Given the description of an element on the screen output the (x, y) to click on. 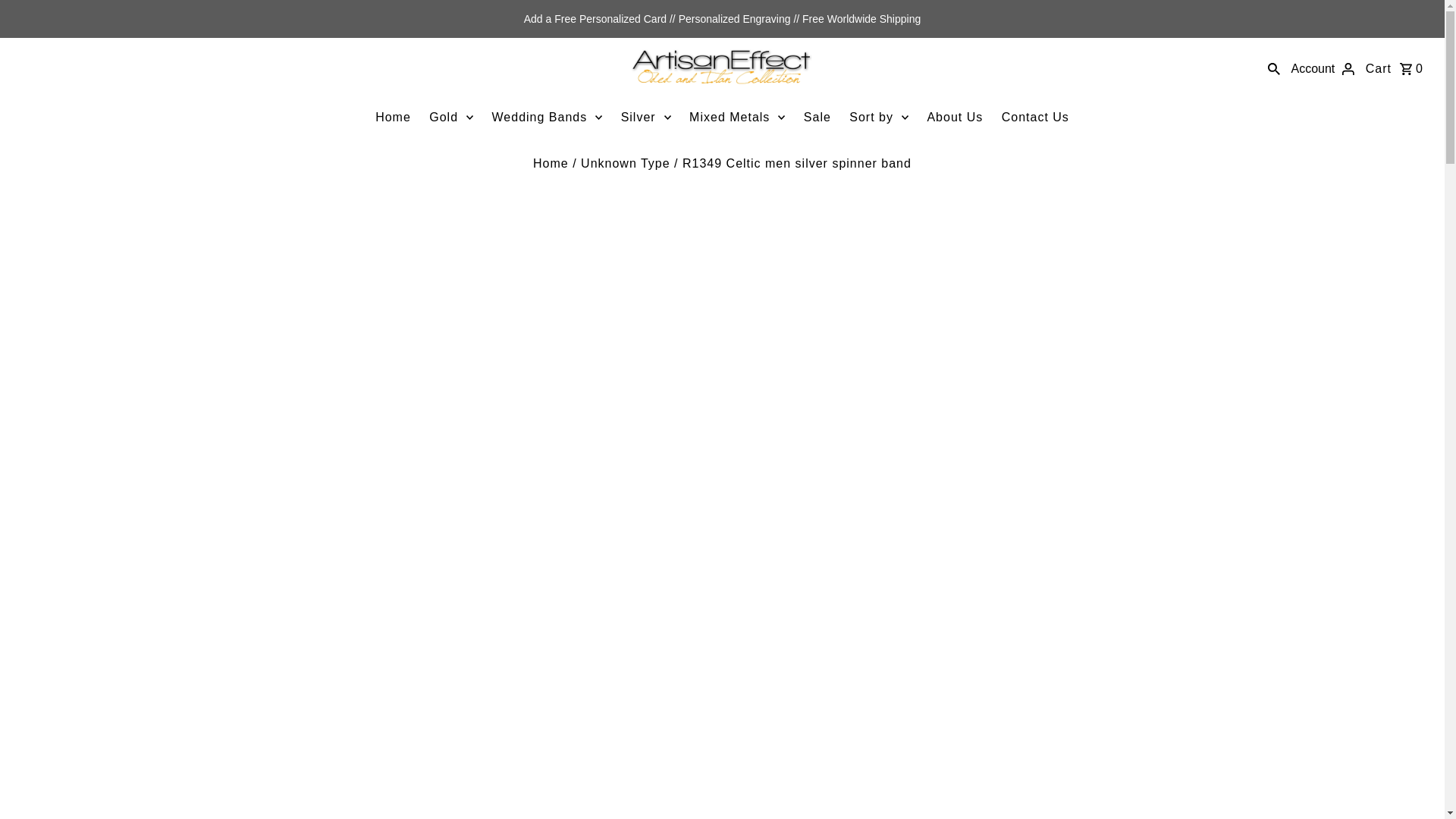
Home (550, 162)
